Given the description of an element on the screen output the (x, y) to click on. 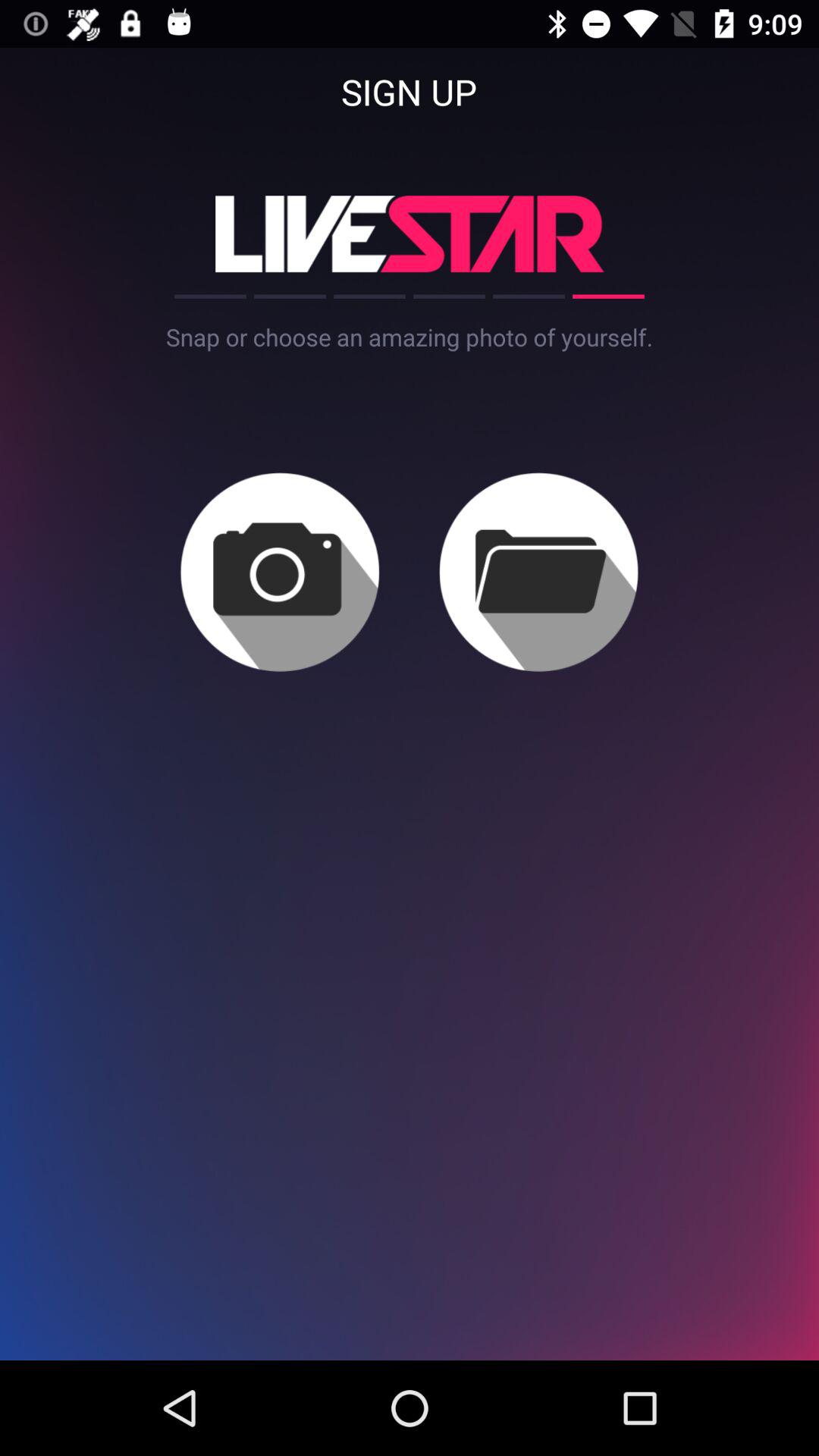
open images folder (538, 571)
